Given the description of an element on the screen output the (x, y) to click on. 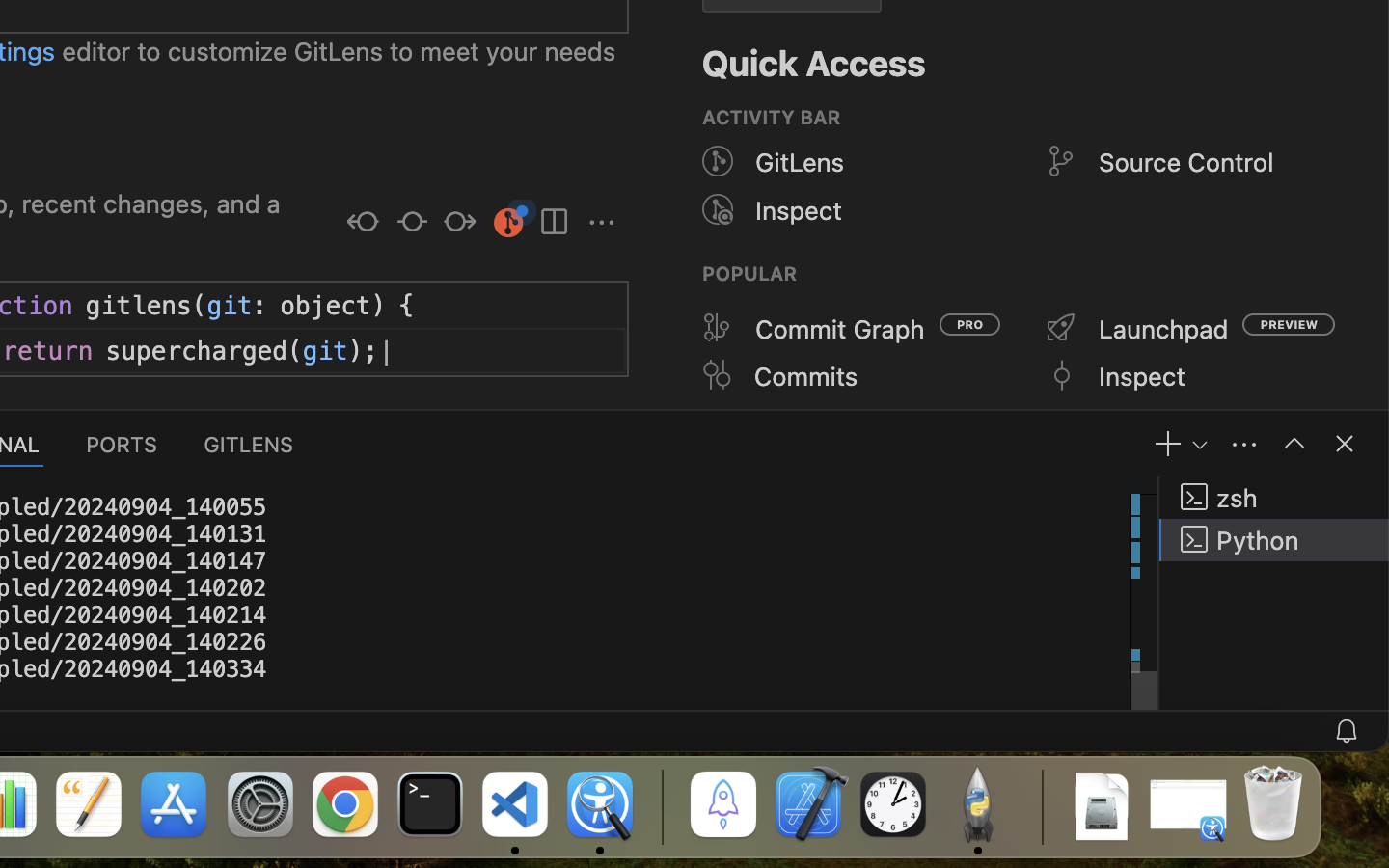
 Element type: AXStaticText (363, 223)
zsh  Element type: AXGroup (1274, 497)
 Element type: AXStaticText (717, 208)
0 PORTS Element type: AXRadioButton (122, 443)
 Element type: AXStaticText (717, 374)
